Given the description of an element on the screen output the (x, y) to click on. 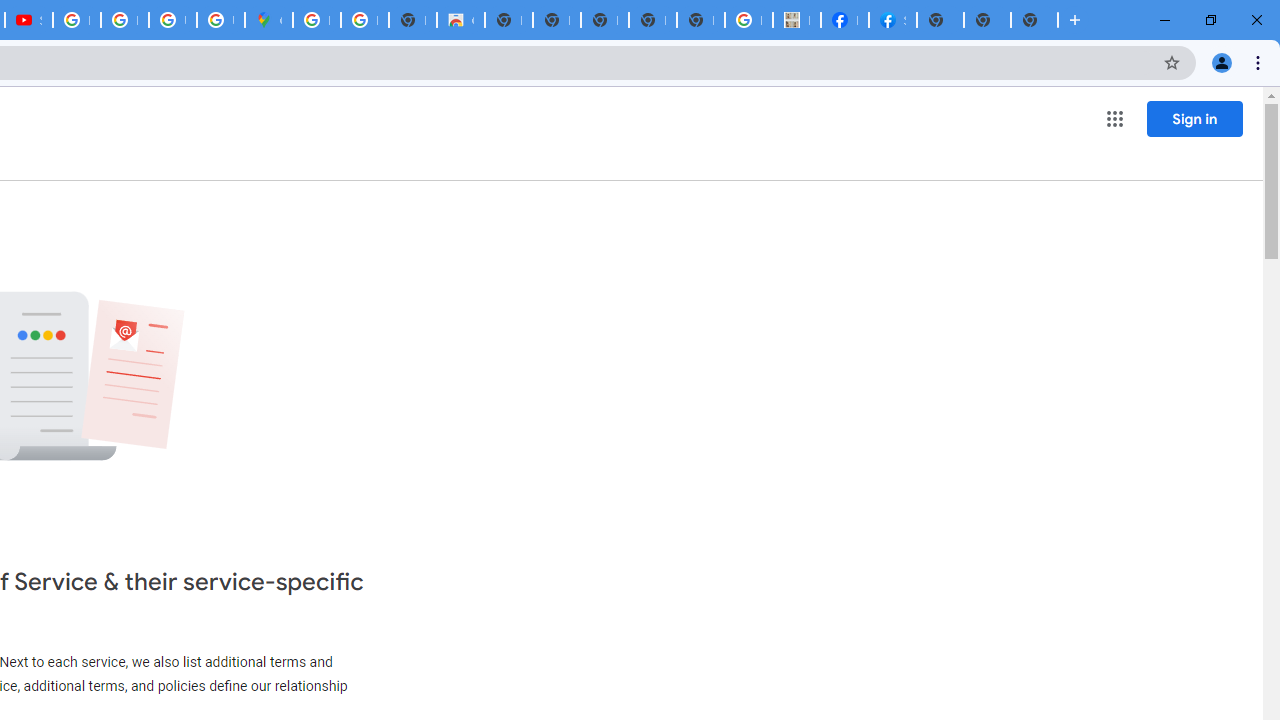
MILEY CYRUS. (796, 20)
New Tab (1034, 20)
